Given the description of an element on the screen output the (x, y) to click on. 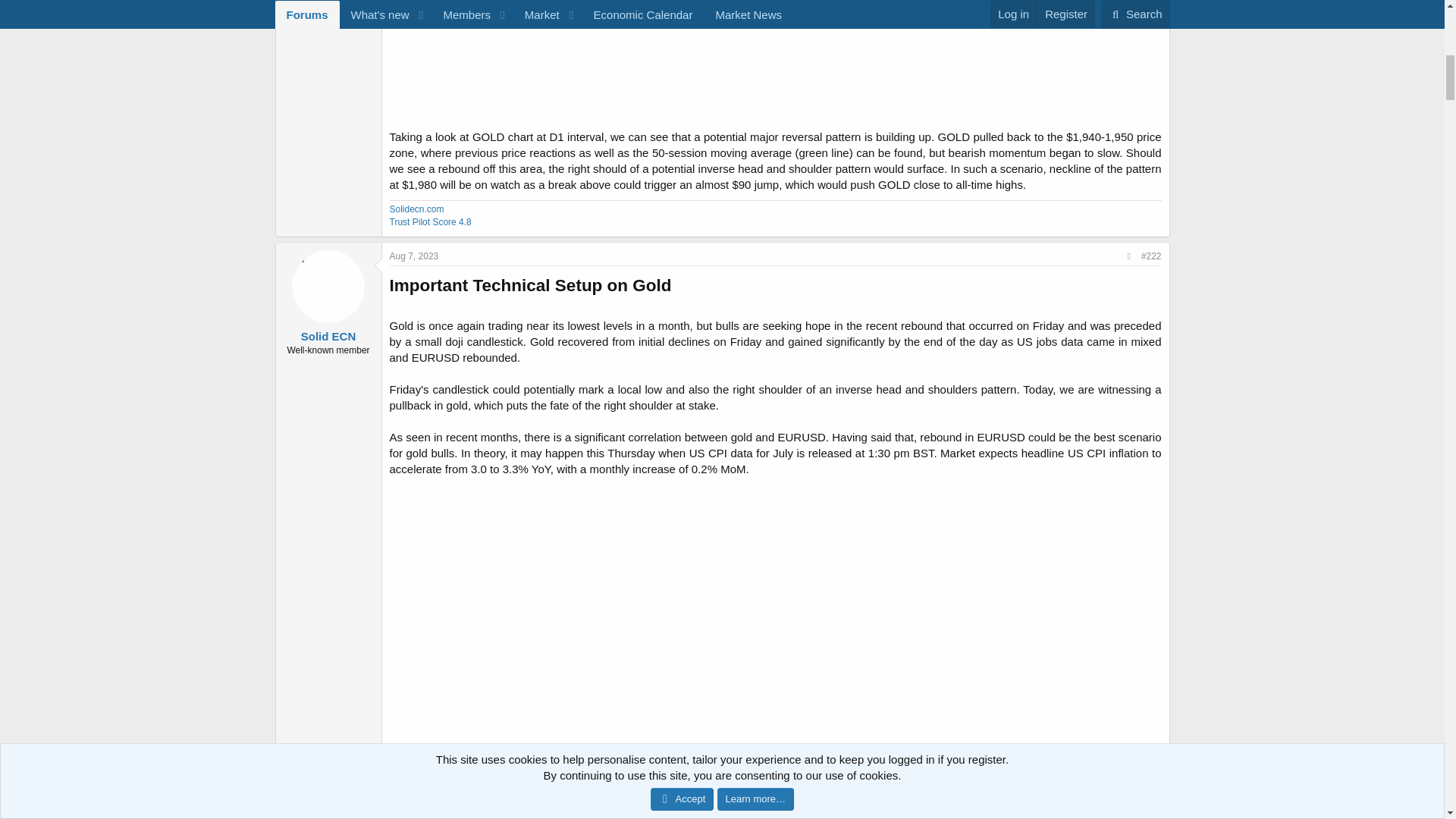
Aug 7, 2023 at 1:58 PM (414, 255)
